Given the description of an element on the screen output the (x, y) to click on. 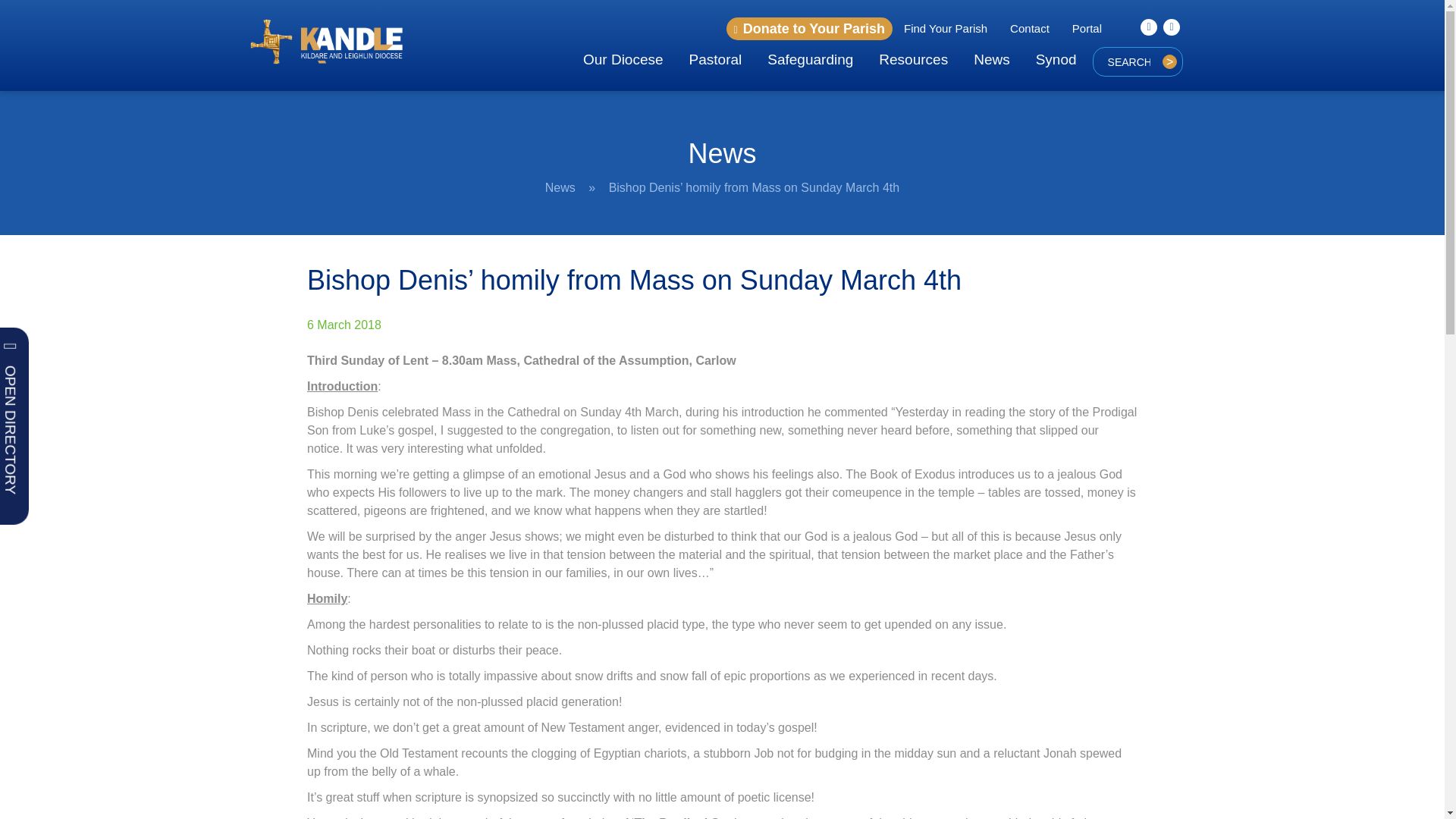
Donate to Your Parish (809, 28)
Safeguarding (810, 59)
Portal (1087, 28)
Contact (1029, 28)
Find Your Parish (945, 28)
Pastoral (716, 59)
Resources (913, 59)
Our Diocese (623, 59)
